Given the description of an element on the screen output the (x, y) to click on. 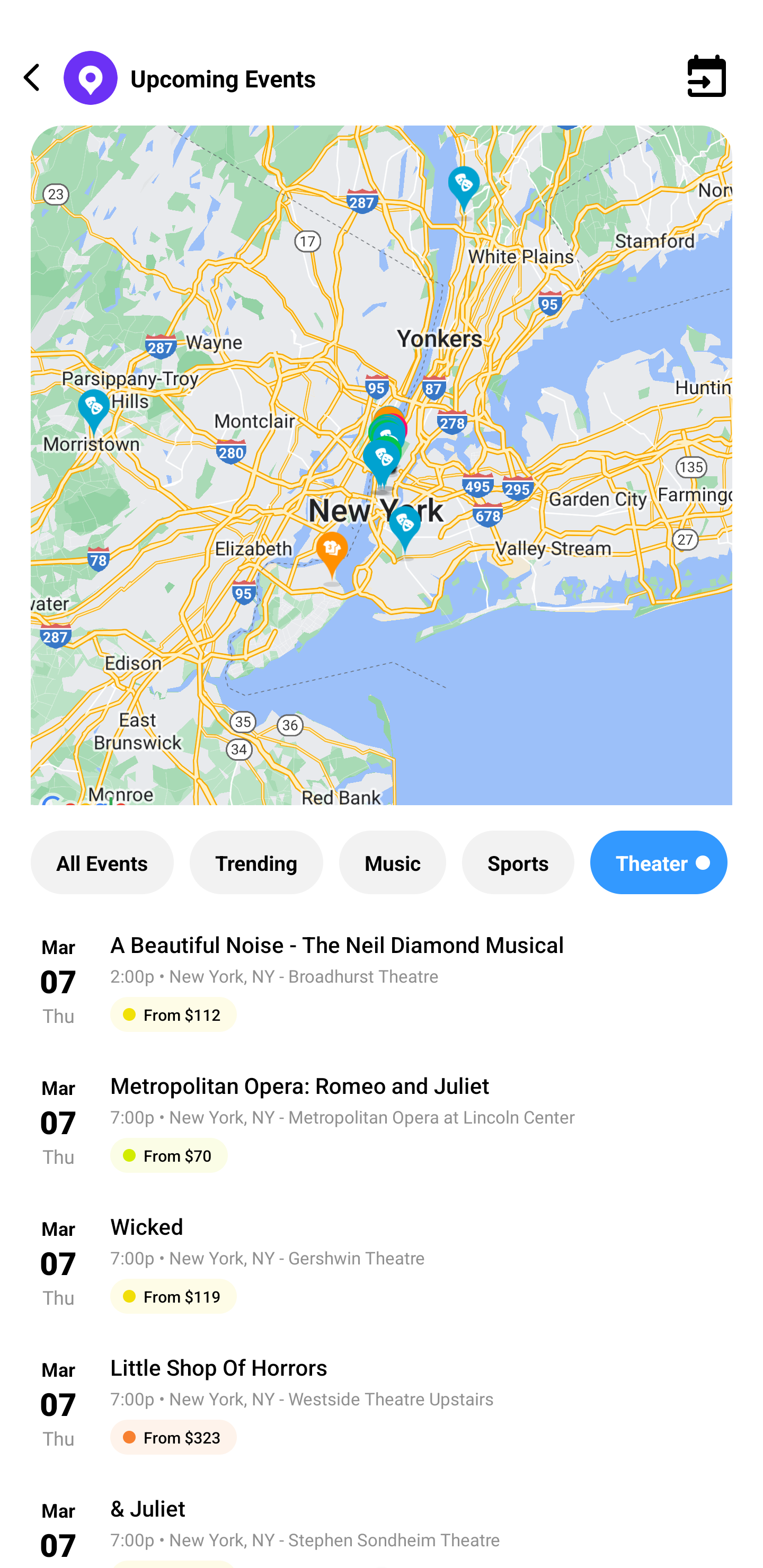
All Events (101, 862)
Trending (256, 862)
Music (392, 862)
Sports (518, 862)
Theater (658, 862)
